Given the description of an element on the screen output the (x, y) to click on. 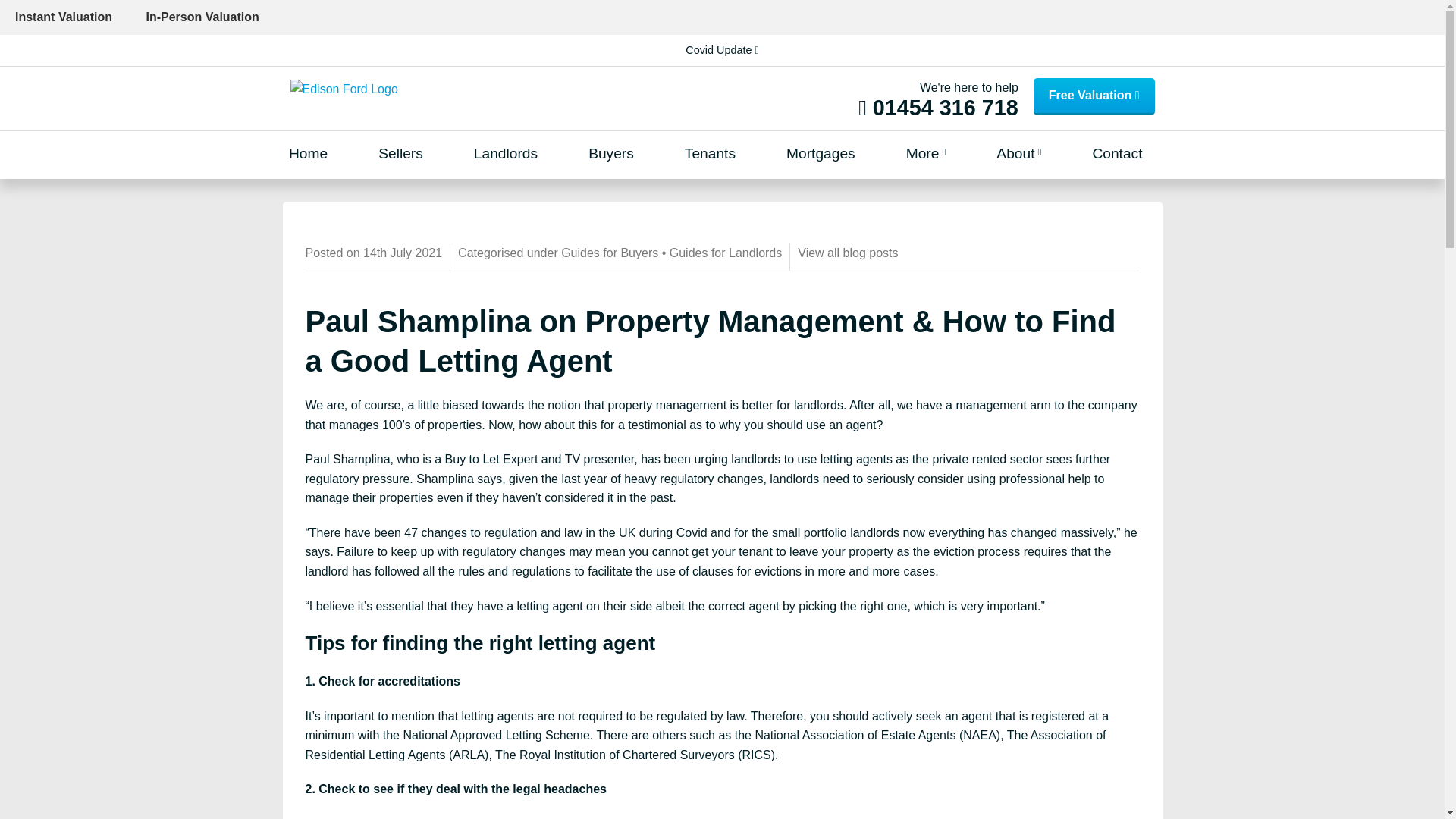
About (1018, 154)
Landlords (505, 154)
Free Valuation (1093, 96)
Sellers (401, 154)
In-Person Valuation (202, 17)
More (925, 154)
Buyers (610, 154)
Instant Valuation (64, 17)
Home (307, 154)
Mortgages (820, 154)
